Given the description of an element on the screen output the (x, y) to click on. 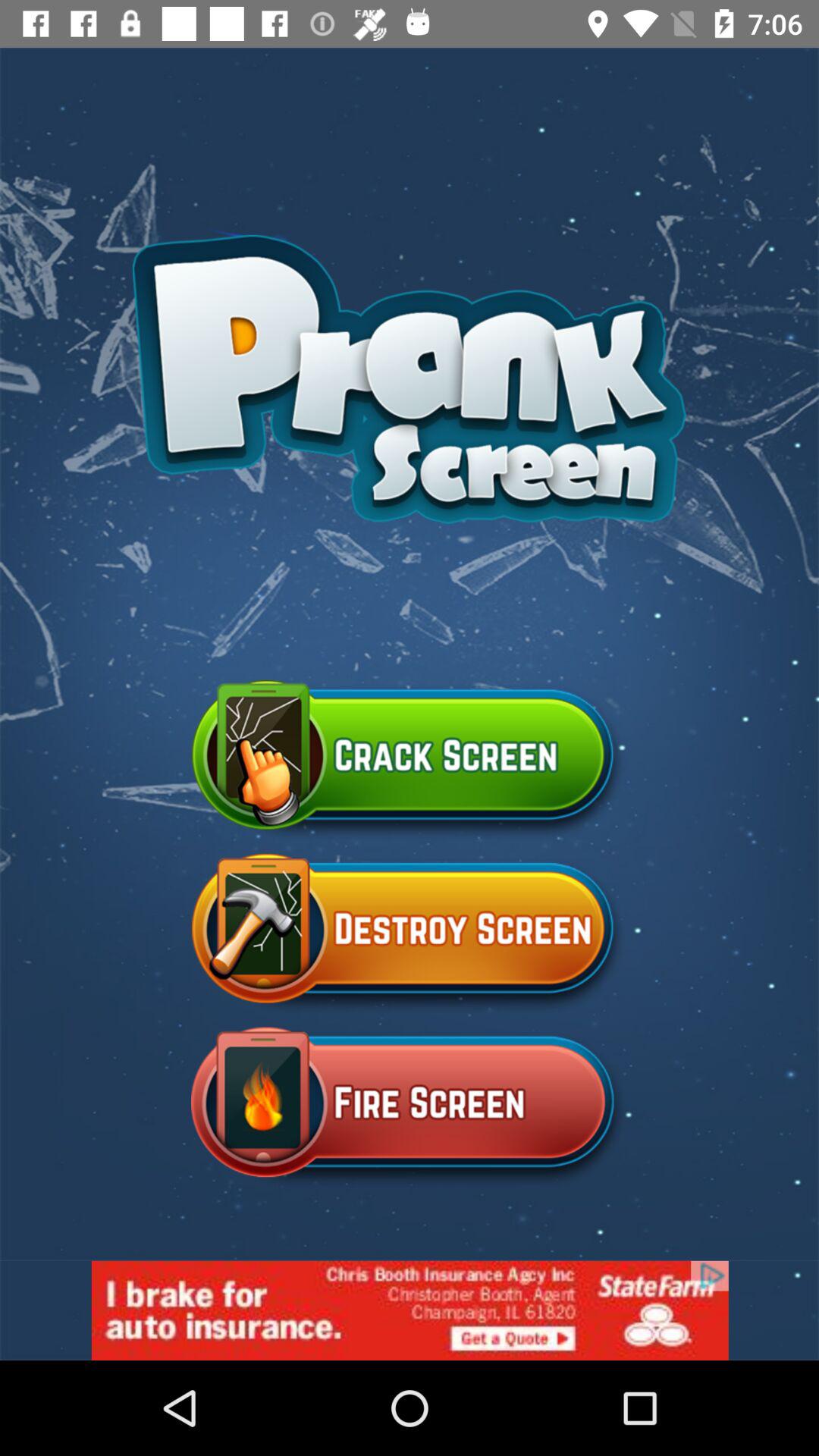
go to destroy screen (409, 934)
